Given the description of an element on the screen output the (x, y) to click on. 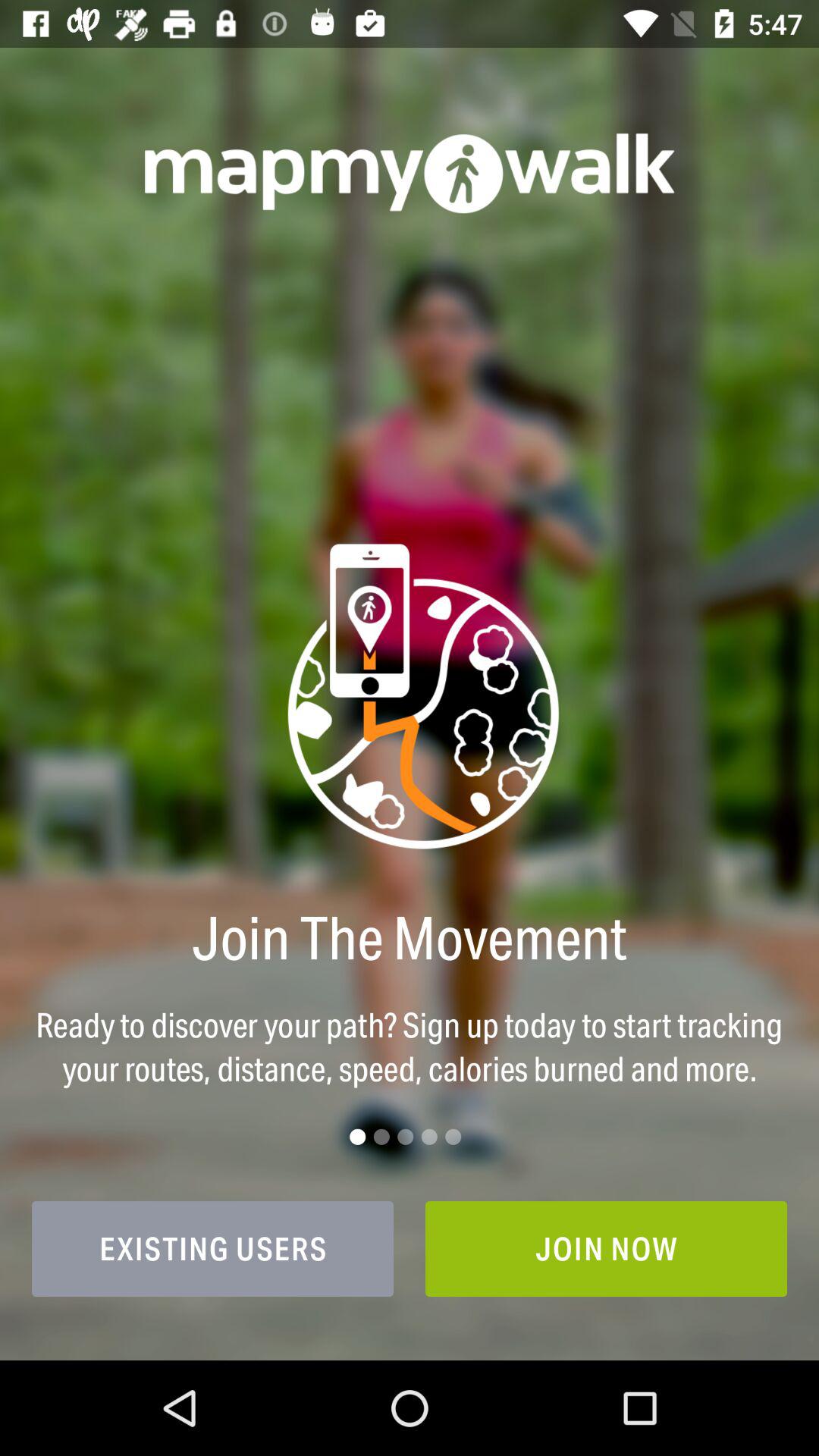
flip until the existing users item (212, 1248)
